Given the description of an element on the screen output the (x, y) to click on. 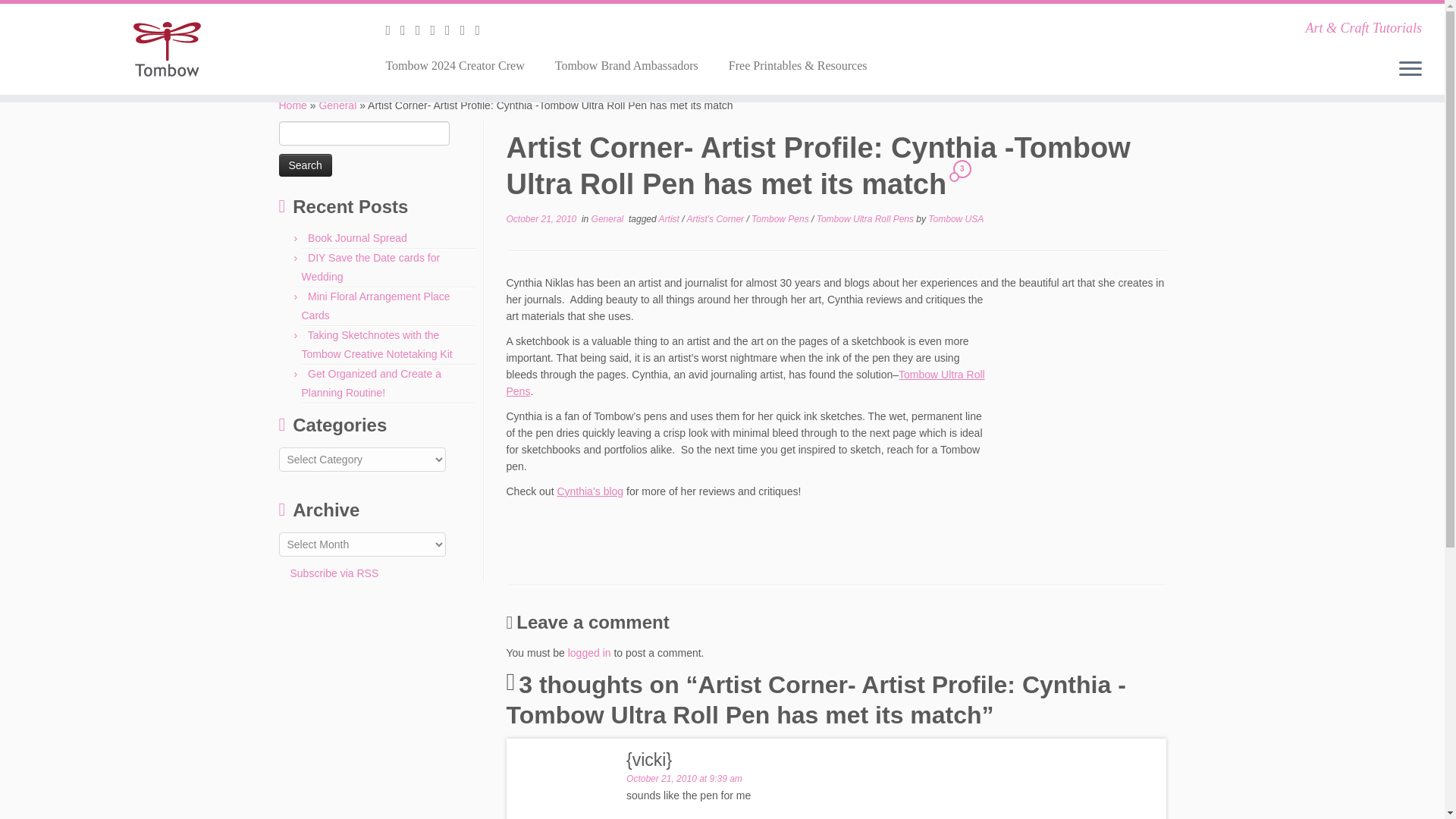
Tombow USA (956, 218)
logged in (589, 653)
Tombow Ultra Roll Pens (866, 218)
Open the menu (1410, 69)
Search (305, 164)
October 21, 2010 at 9:39 am (684, 778)
Follow me on Youtube (468, 29)
1:00 am (541, 218)
Taking Sketchnotes with the Tombow Creative Notetaking Kit (376, 344)
Pin me on Pinterest (481, 29)
